Given the description of an element on the screen output the (x, y) to click on. 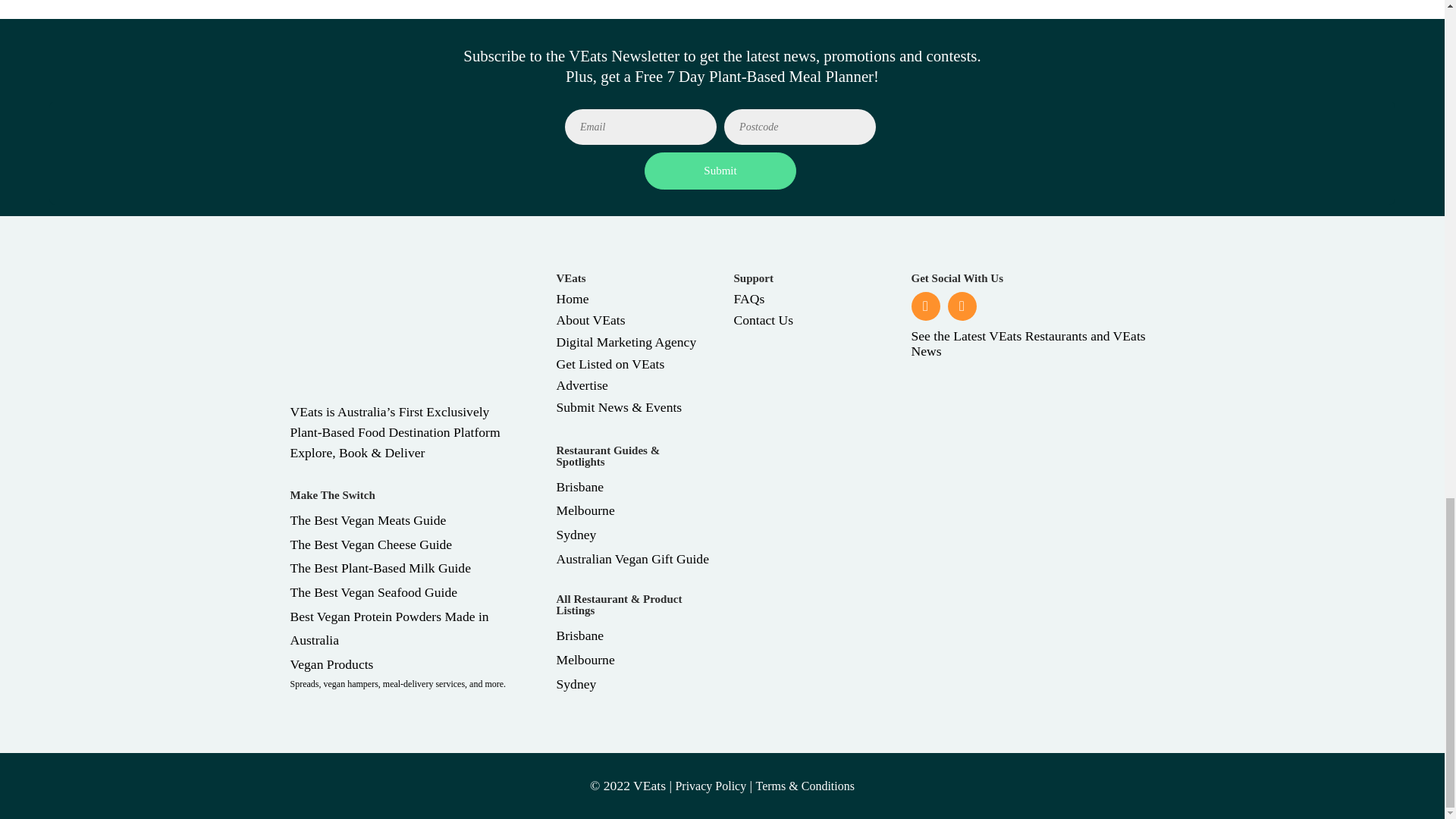
Submit (720, 170)
